Given the description of an element on the screen output the (x, y) to click on. 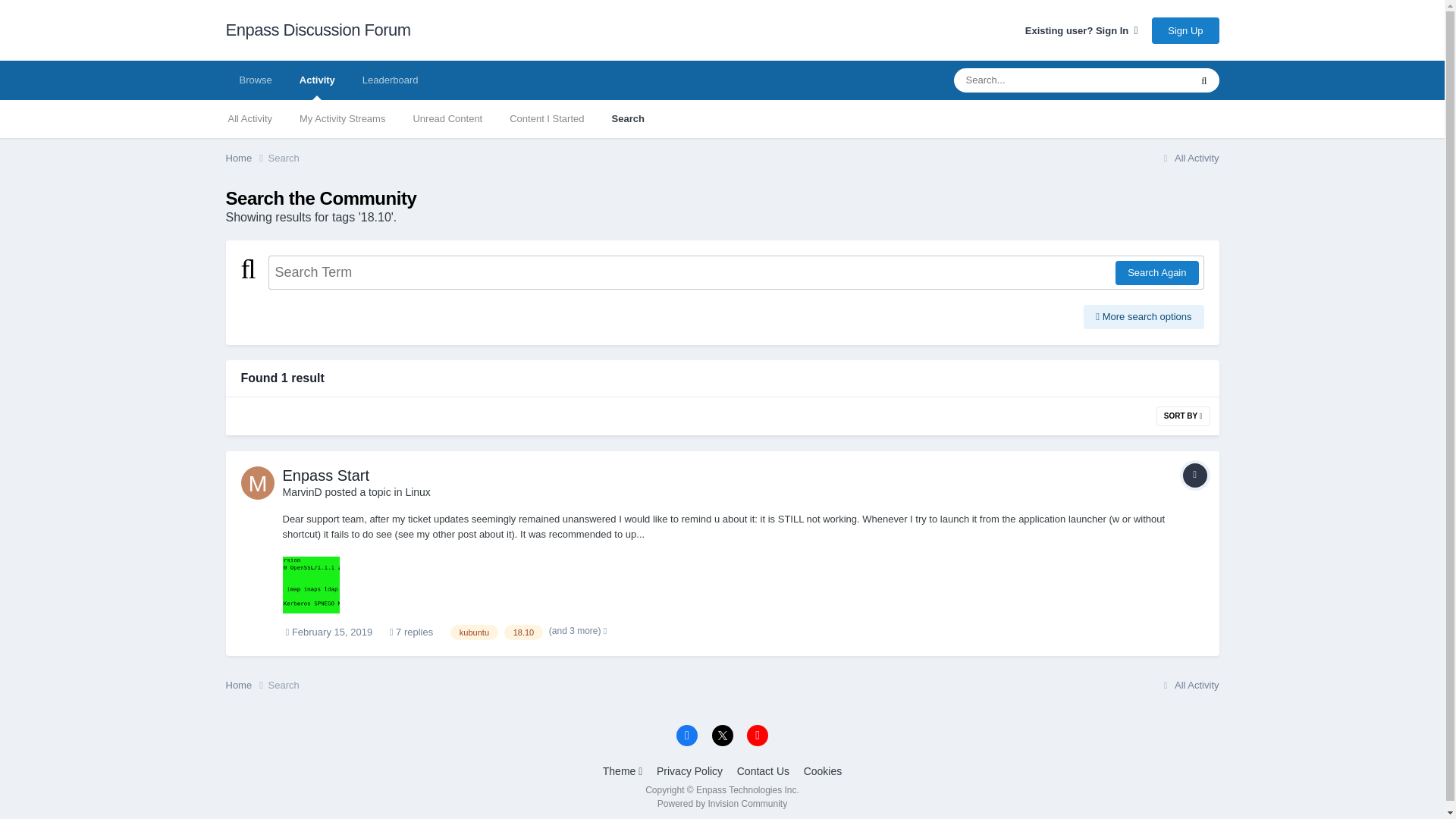
All Activity (1188, 157)
Search (627, 118)
Enpass Discussion Forum (317, 30)
More search options (1143, 316)
Find other content tagged with '18.10' (523, 631)
Unread Content (447, 118)
Search (283, 157)
Content I Started (546, 118)
All Activity (249, 118)
Search Again (1156, 273)
